Given the description of an element on the screen output the (x, y) to click on. 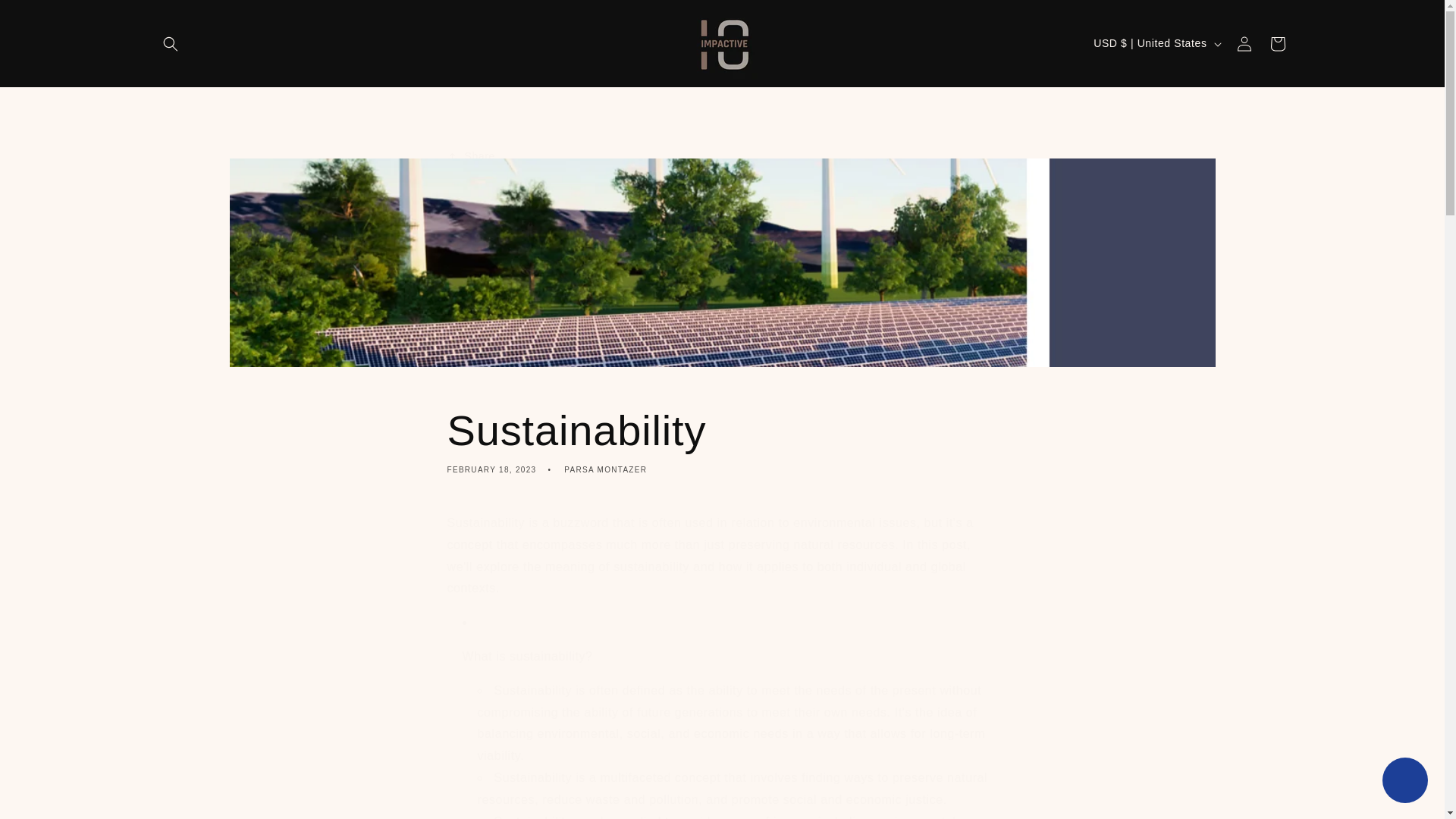
Skip to content (45, 17)
Shopify online store chat (1404, 781)
Share (721, 439)
Cart (721, 156)
Log in (1277, 43)
